Given the description of an element on the screen output the (x, y) to click on. 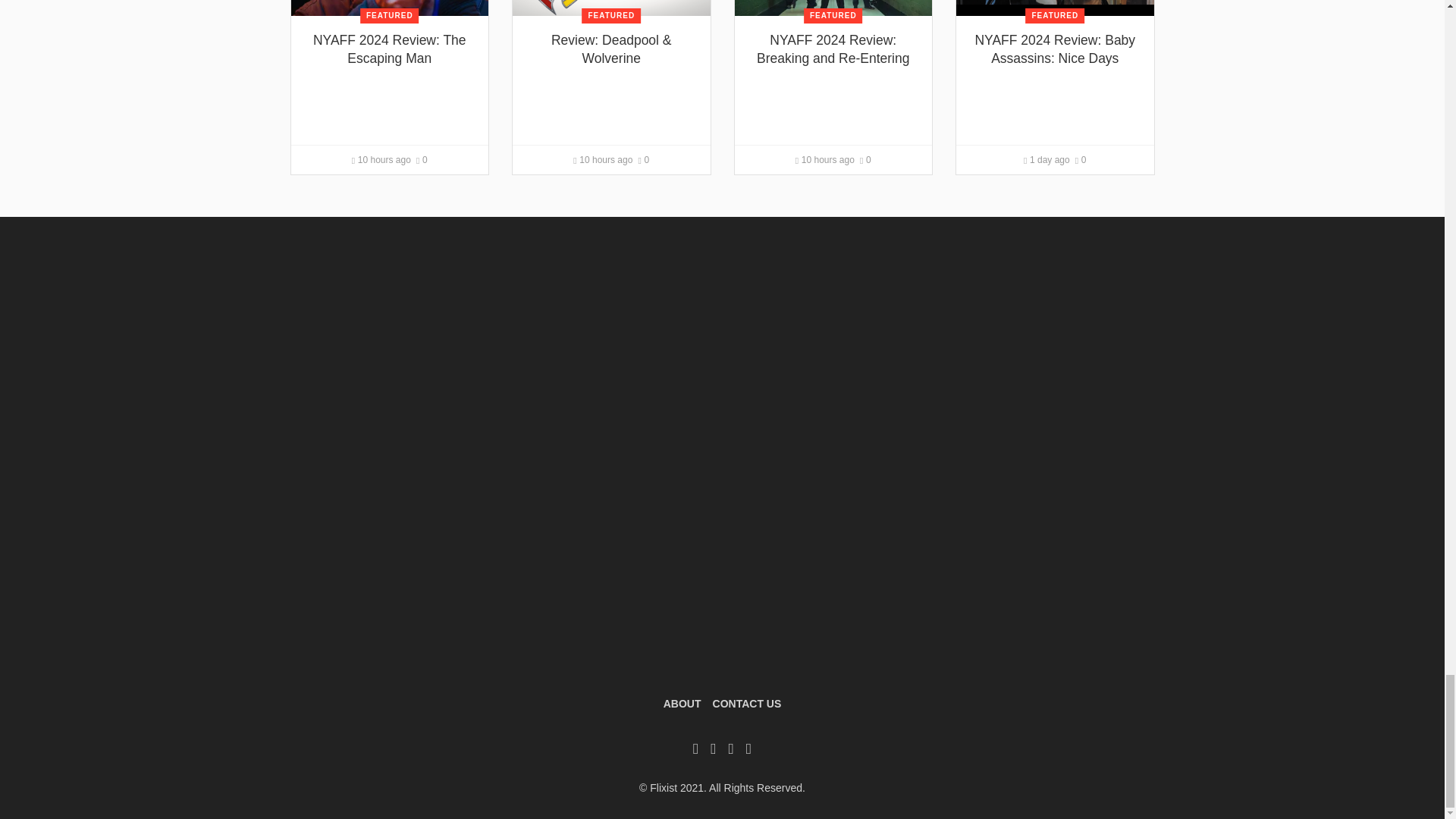
July 26, 2024 at 12:00 pm (381, 159)
